Given the description of an element on the screen output the (x, y) to click on. 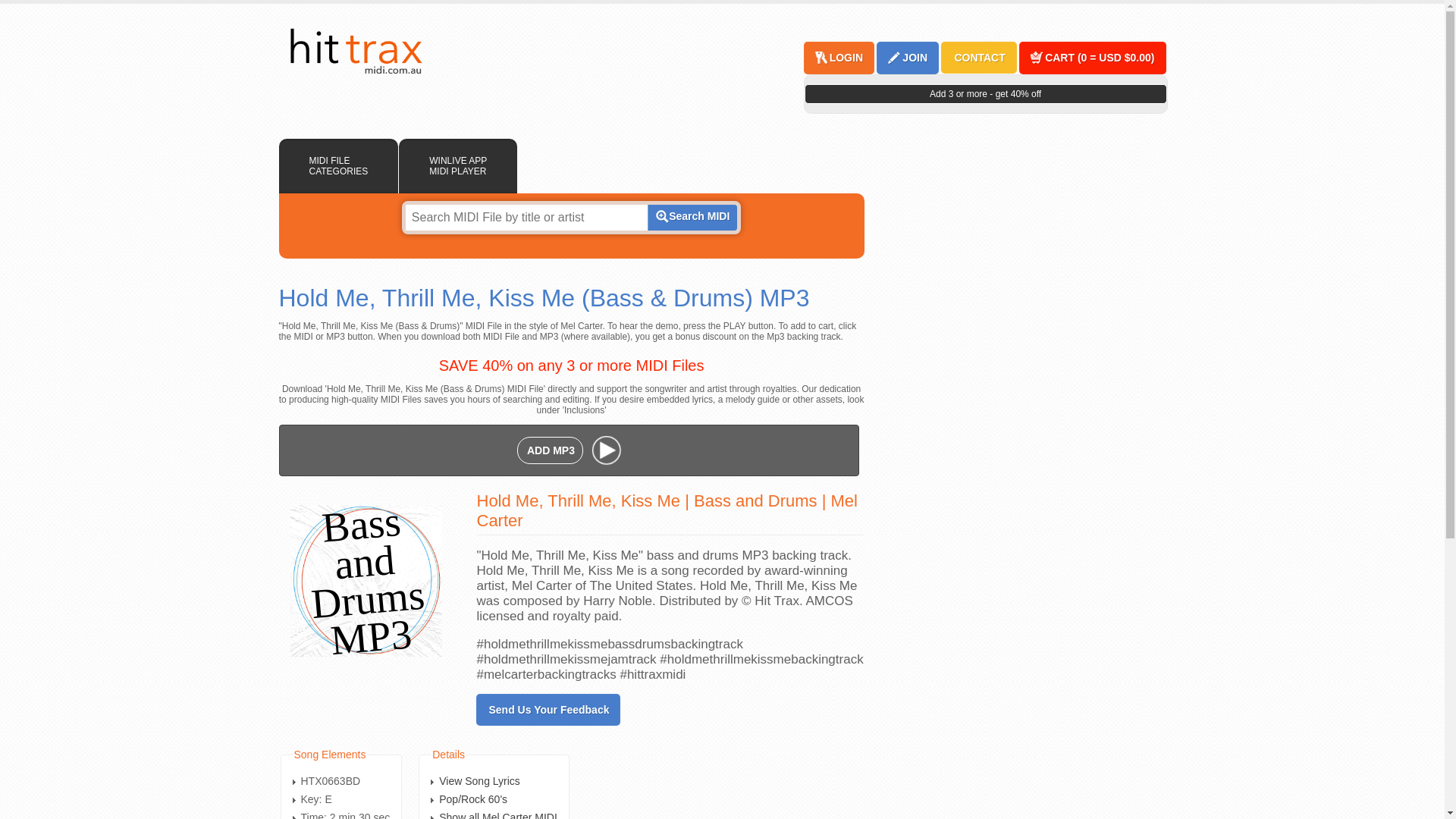
Send Us Your Feedback Element type: text (548, 709)
View Song Lyrics Element type: text (479, 781)
CONTACT Element type: text (978, 57)
Pop/Rock 60's Element type: text (473, 799)
Play hold me, thrill me, kiss me (bass & drums) Element type: hover (606, 450)
Search MIDI Element type: text (692, 217)
LOGIN Element type: text (845, 57)
ADD MP3 Element type: text (550, 450)
CART (0 = USD $0.00) Element type: text (1098, 57)
JOIN Element type: text (913, 57)
MIDI Files Backing Tracks Element type: hover (354, 51)
